Given the description of an element on the screen output the (x, y) to click on. 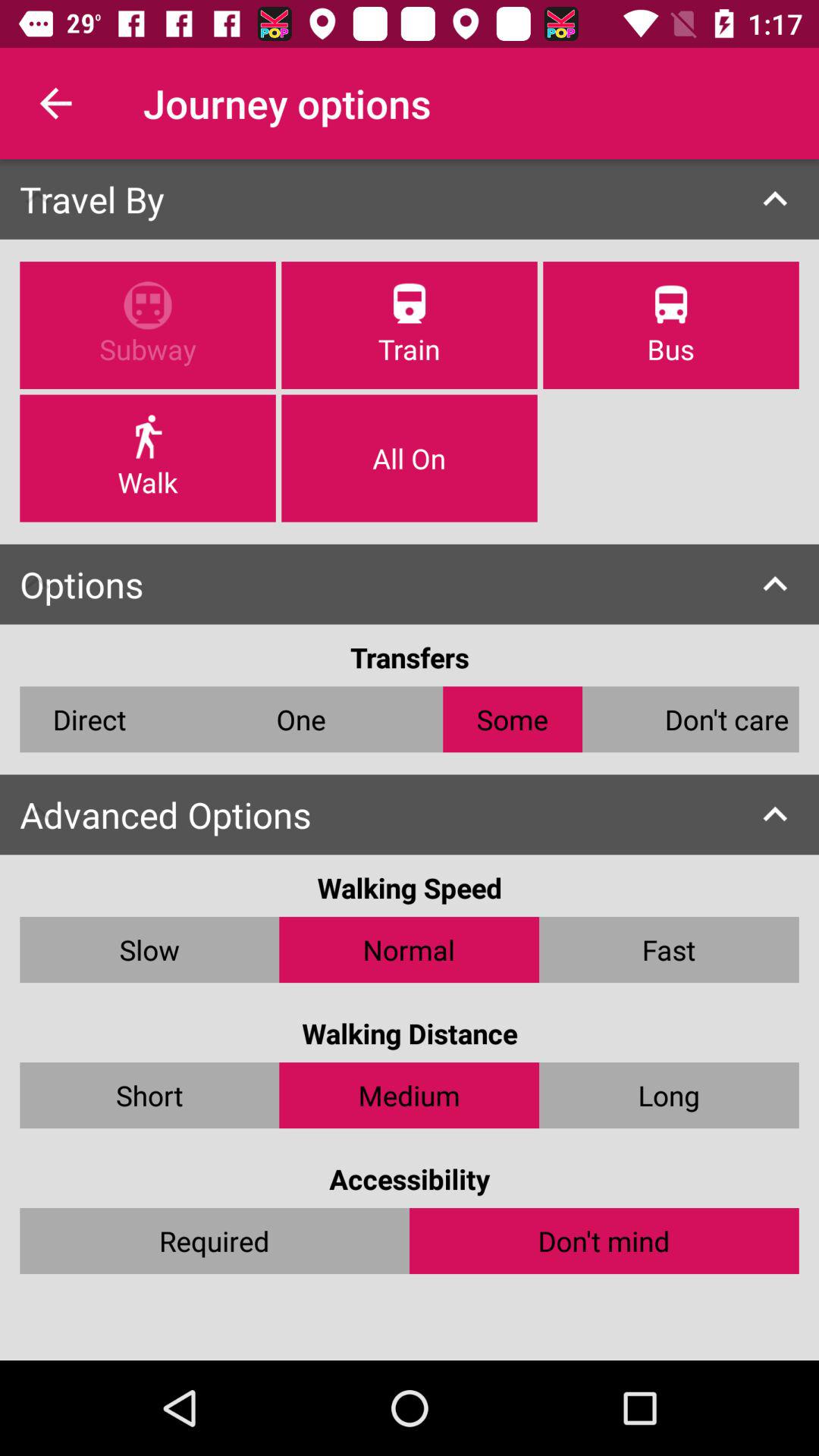
launch icon to the right of normal item (669, 949)
